Given the description of an element on the screen output the (x, y) to click on. 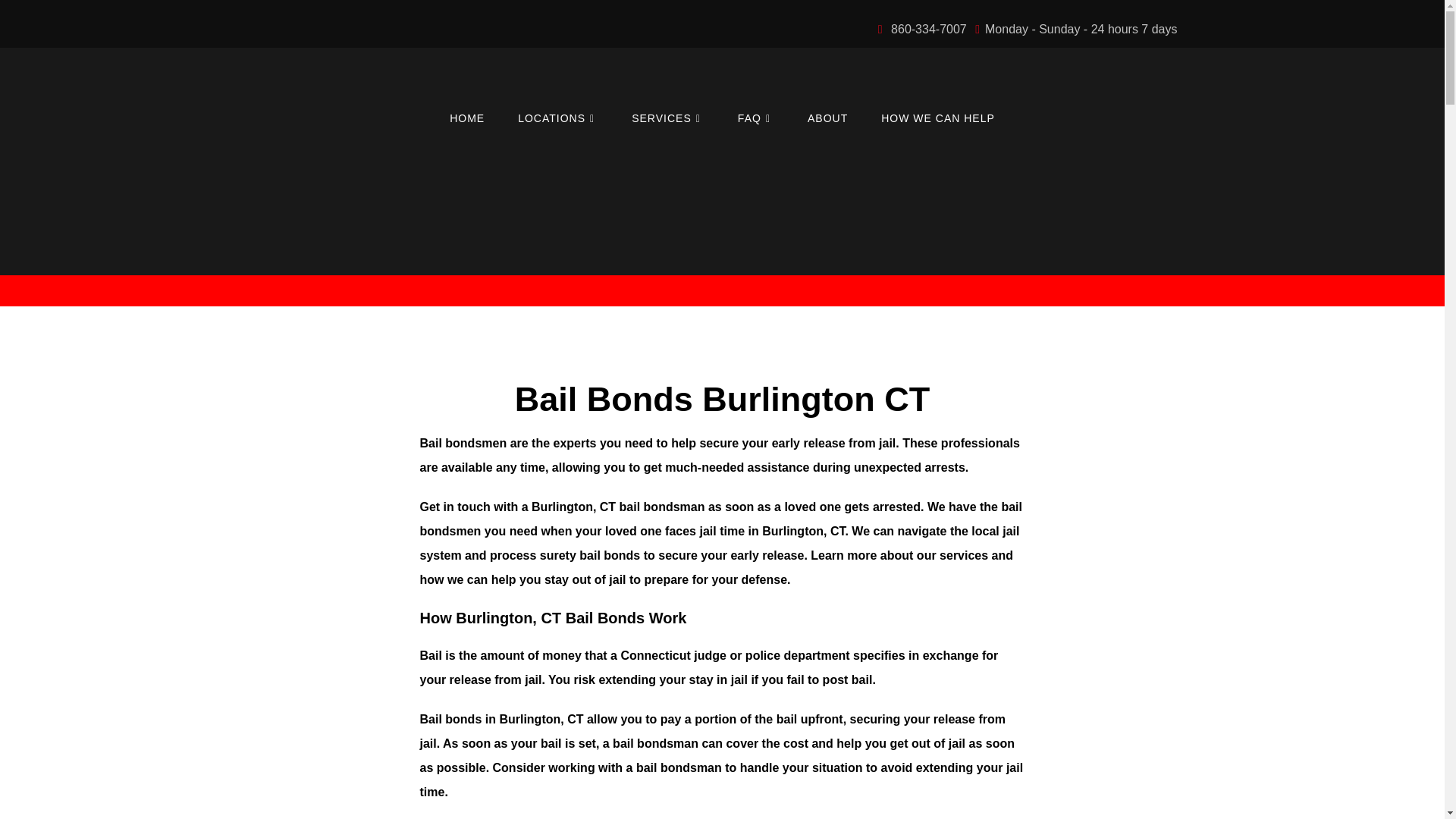
SERVICES (667, 118)
LOCATIONS (557, 118)
FAQ (755, 118)
HOME (466, 118)
